Given the description of an element on the screen output the (x, y) to click on. 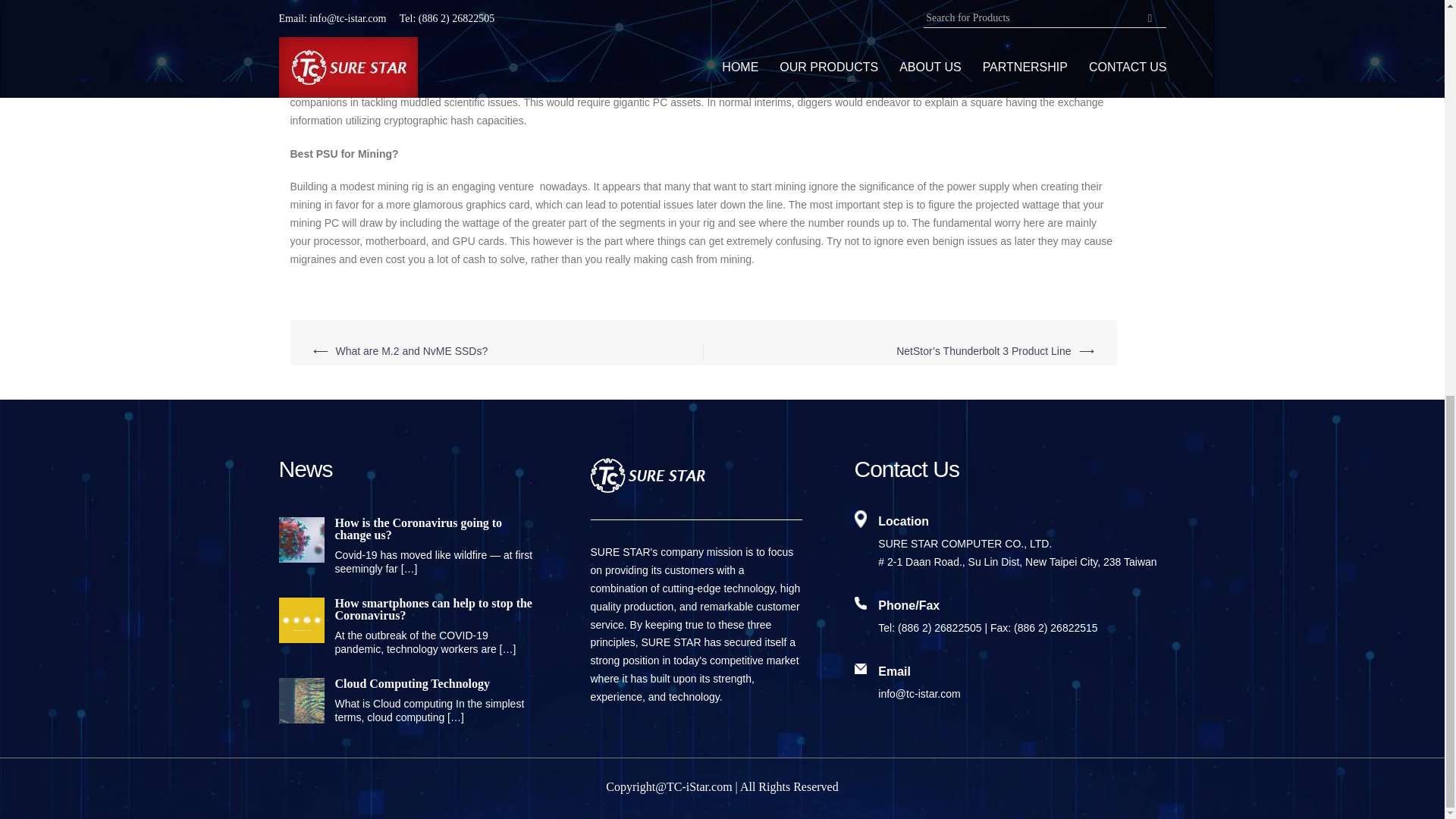
How is the Coronavirus going to change us? (405, 528)
What are M.2 and NvME SSDs? (410, 350)
Cloud Computing Technology (405, 684)
How smartphones can help to stop the Coronavirus? (405, 609)
